Given the description of an element on the screen output the (x, y) to click on. 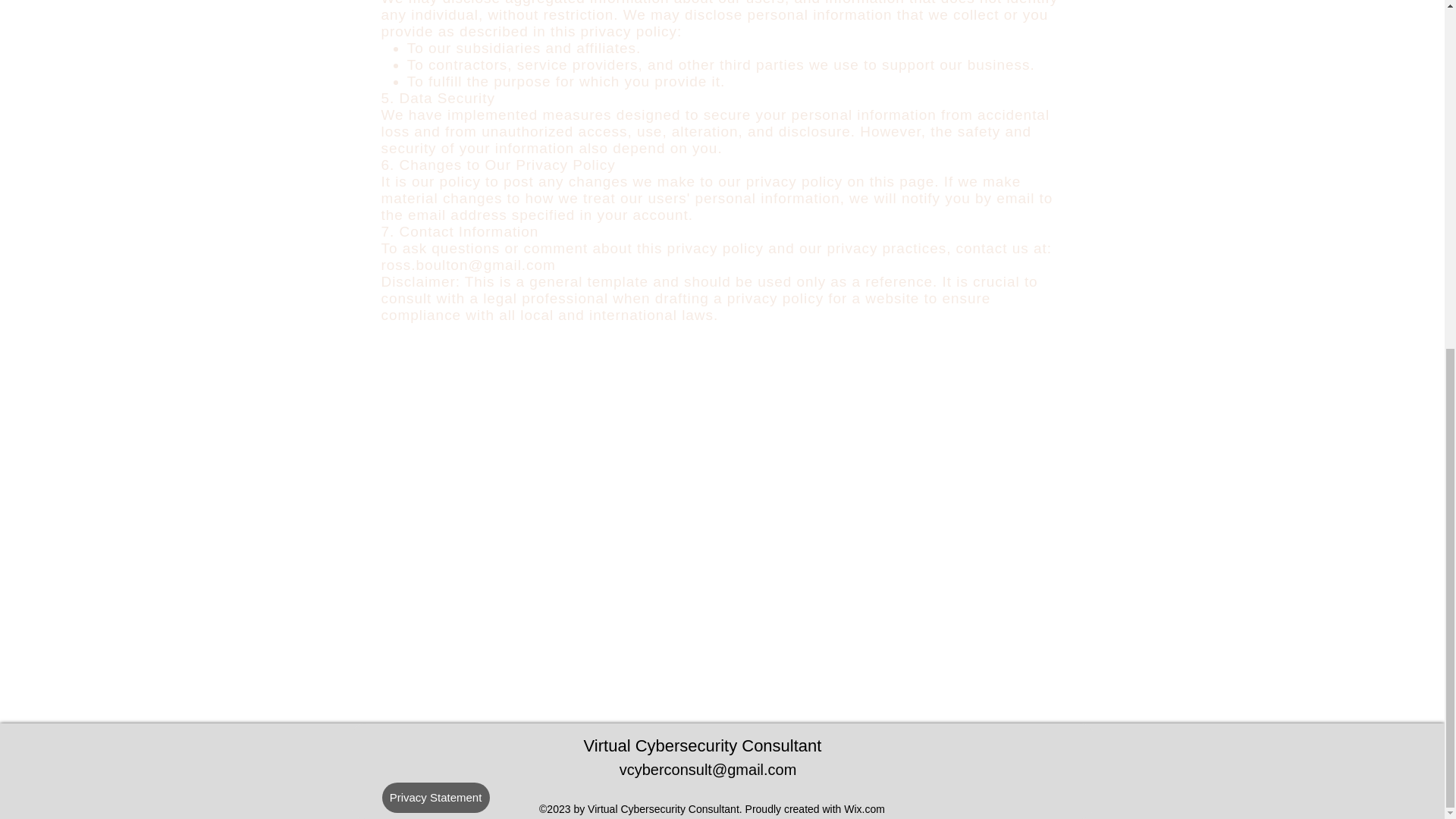
Privacy Statement (435, 797)
